Given the description of an element on the screen output the (x, y) to click on. 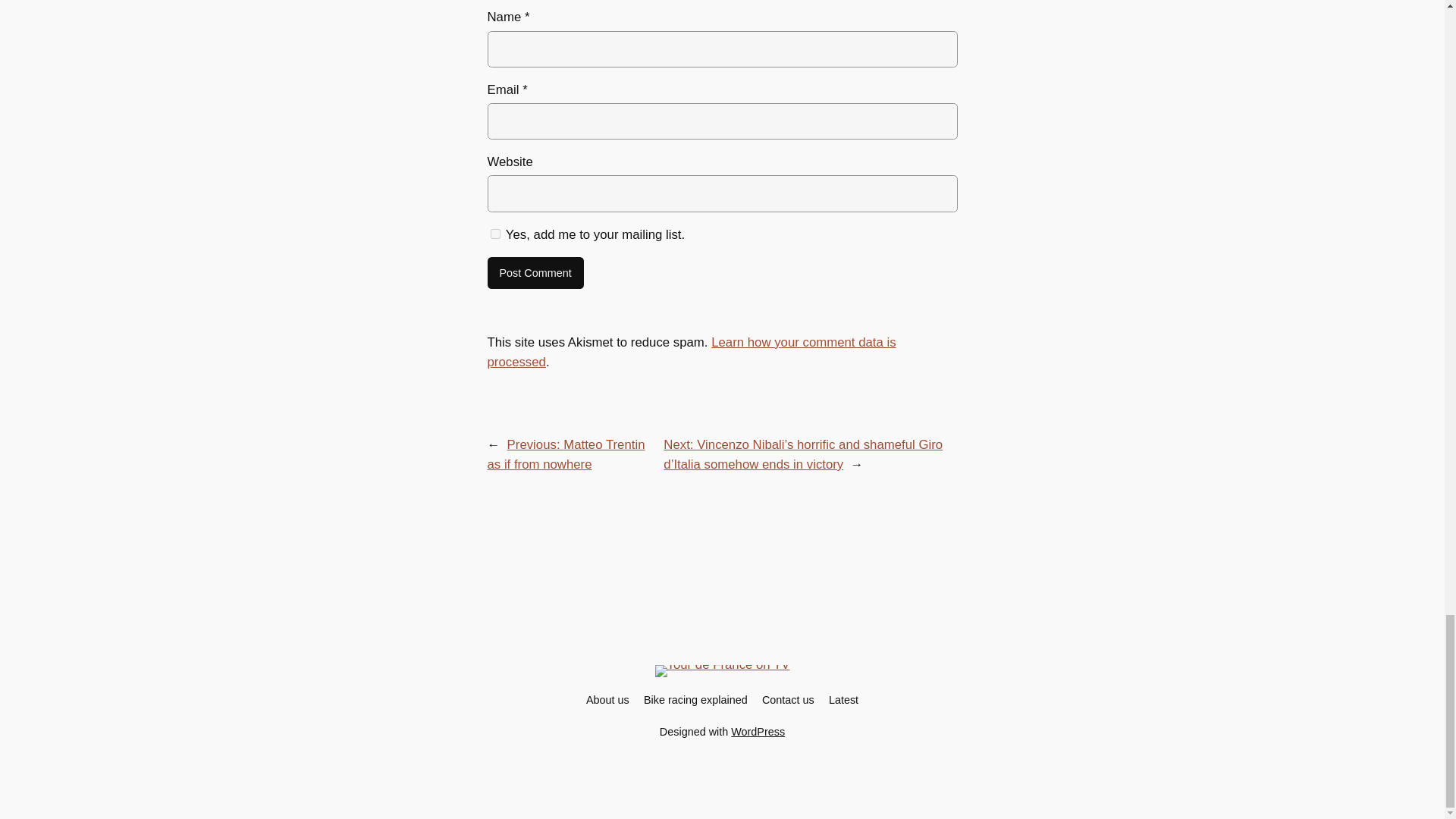
Latest (843, 699)
Learn how your comment data is processed (690, 351)
1 (494, 234)
About us (607, 699)
Post Comment (534, 273)
Contact us (787, 699)
Post Comment (534, 273)
Bike racing explained (695, 699)
Previous: Matteo Trentin as if from nowhere (565, 454)
